Given the description of an element on the screen output the (x, y) to click on. 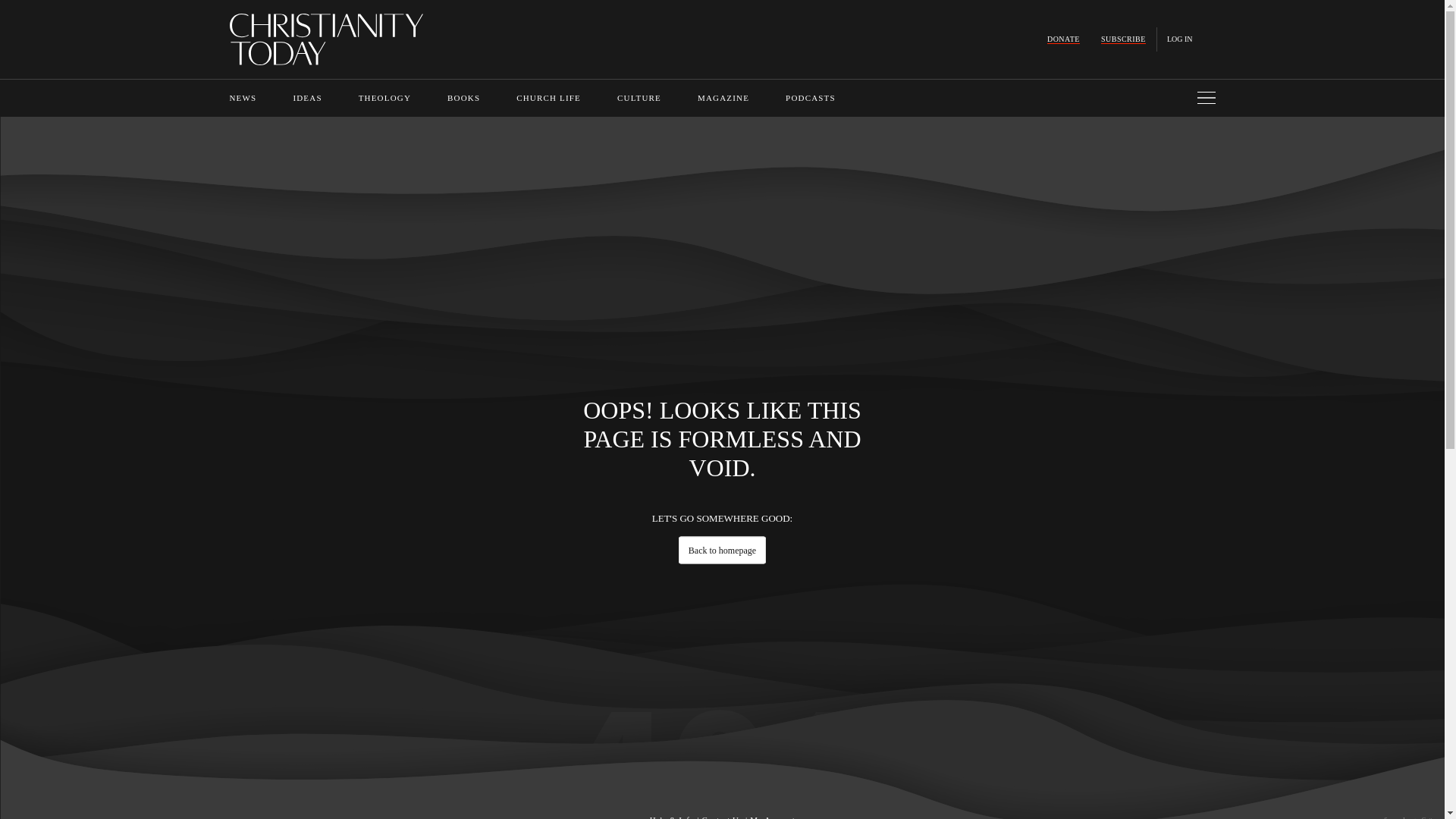
CHURCH LIFE (548, 97)
PODCASTS (810, 97)
DONATE (1063, 39)
IDEAS (306, 97)
THEOLOGY (384, 97)
SUBSCRIBE (1122, 39)
BOOKS (463, 97)
MAGAZINE (723, 97)
CULTURE (639, 97)
NEWS (242, 97)
